Given the description of an element on the screen output the (x, y) to click on. 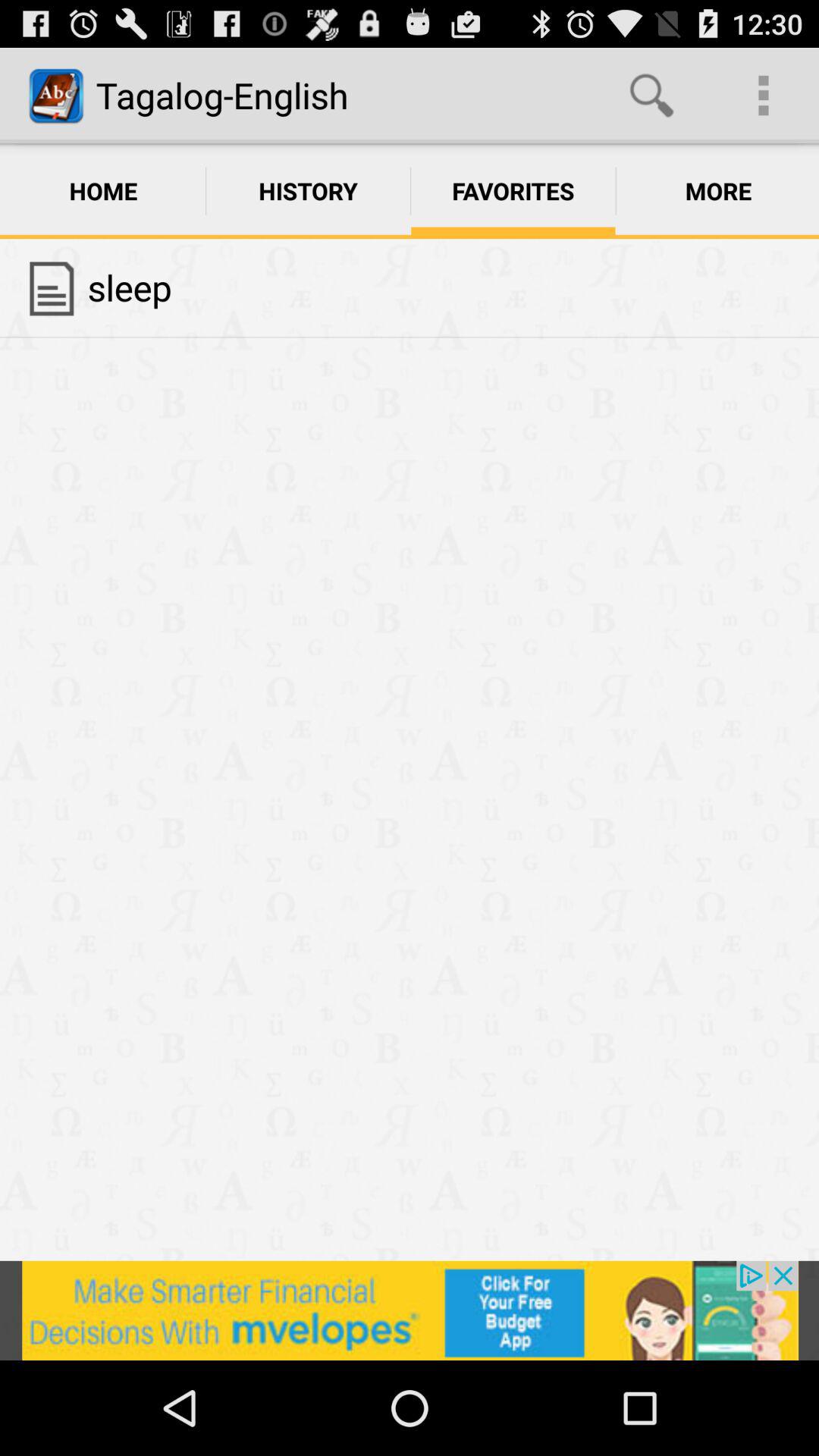
open advertisement (409, 1310)
